Given the description of an element on the screen output the (x, y) to click on. 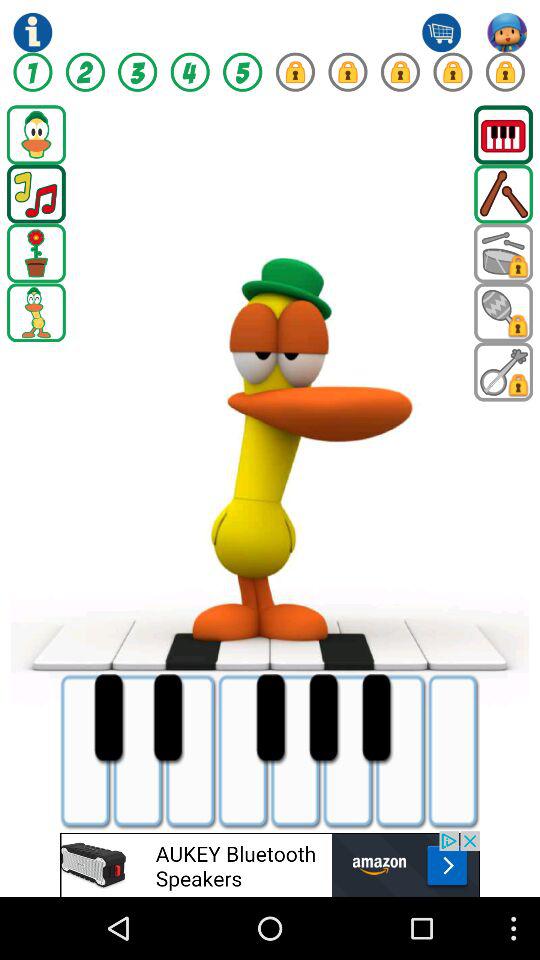
number page (347, 71)
